Given the description of an element on the screen output the (x, y) to click on. 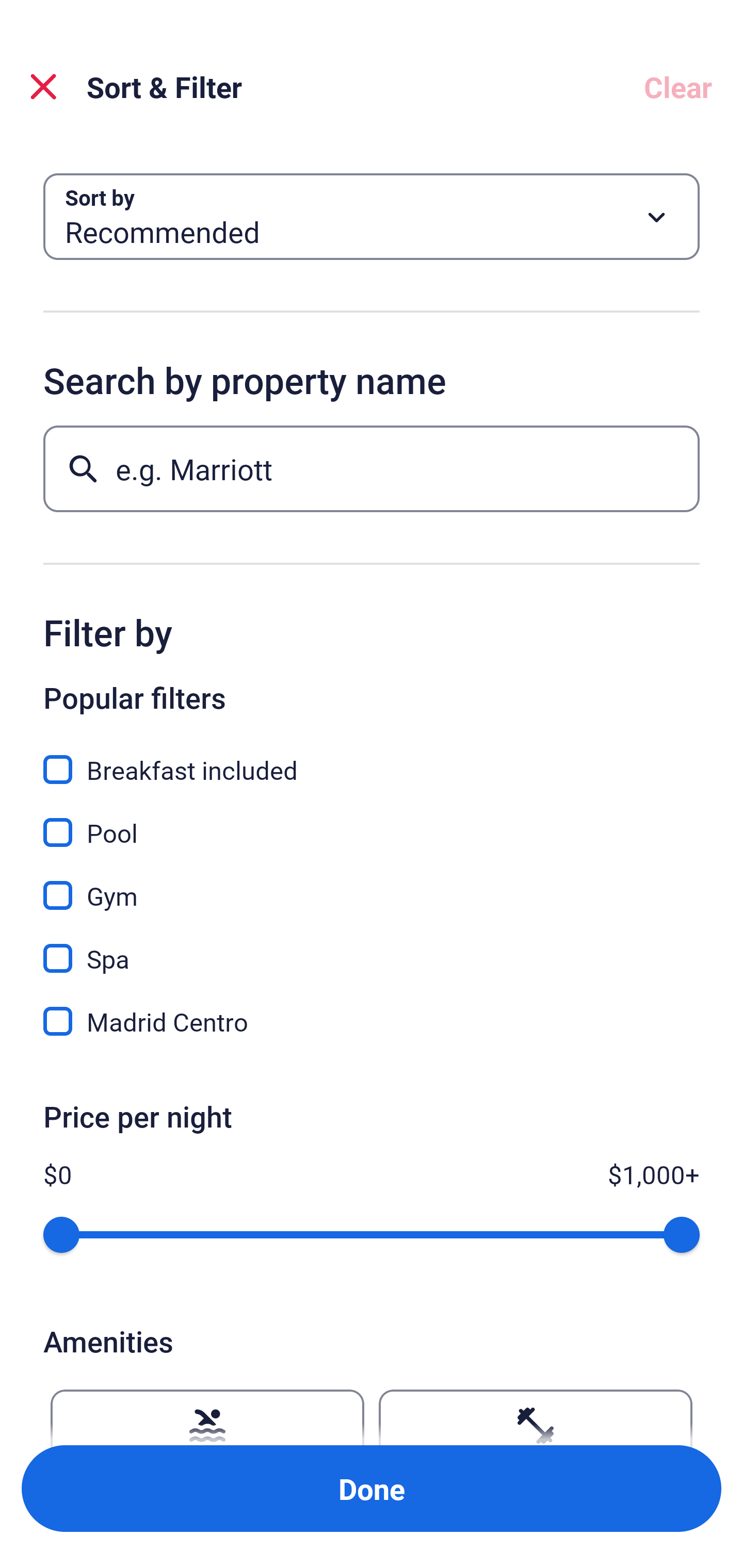
Close Sort and Filter (43, 86)
Clear (677, 86)
Sort by Button Recommended (371, 217)
e.g. Marriott Button (371, 468)
Breakfast included, Breakfast included (371, 757)
Pool, Pool (371, 821)
Gym, Gym (371, 883)
Spa, Spa (371, 946)
Madrid Centro, Madrid Centro (371, 1021)
Apply and close Sort and Filter Done (371, 1488)
